Given the description of an element on the screen output the (x, y) to click on. 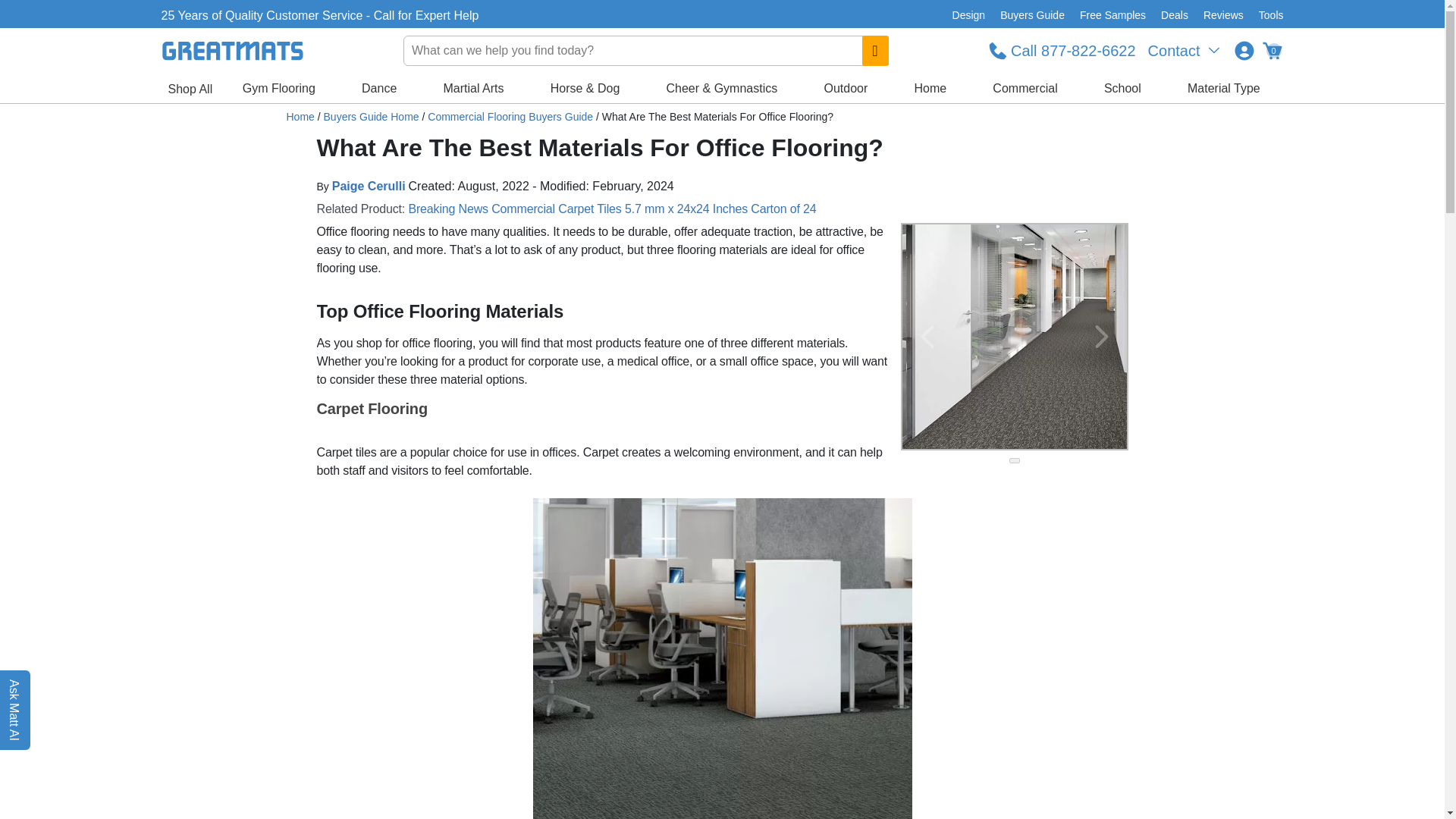
Reviews (1222, 15)
Greatmats (300, 116)
Contact (1184, 50)
Free Samples (1112, 15)
Call 877-822-6622 (1061, 50)
Buyers Guide (1031, 15)
Tools (1267, 15)
Shop All (189, 89)
Deals (1174, 15)
0 (1271, 50)
